Given the description of an element on the screen output the (x, y) to click on. 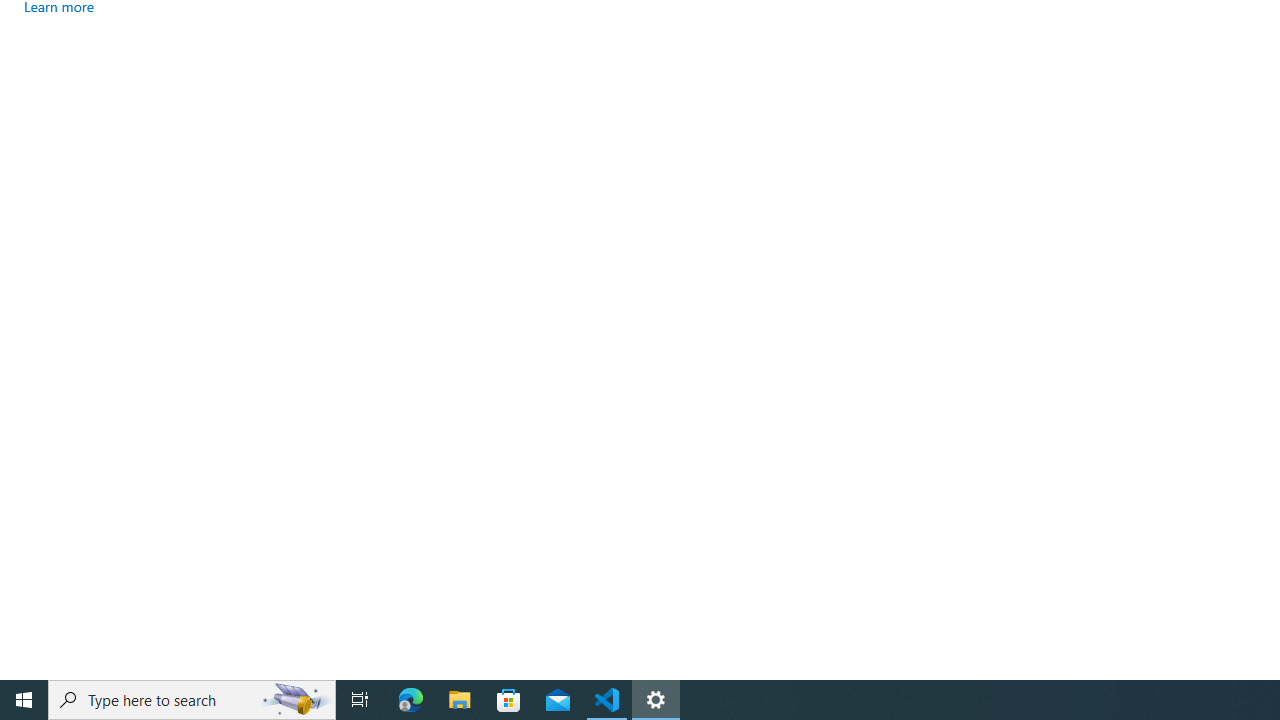
Microsoft Store (509, 699)
Start (24, 699)
Settings - 1 running window (656, 699)
Type here to search (191, 699)
Search highlights icon opens search home window (295, 699)
Microsoft Edge (411, 699)
File Explorer (460, 699)
Task View (359, 699)
Visual Studio Code - 1 running window (607, 699)
